Given the description of an element on the screen output the (x, y) to click on. 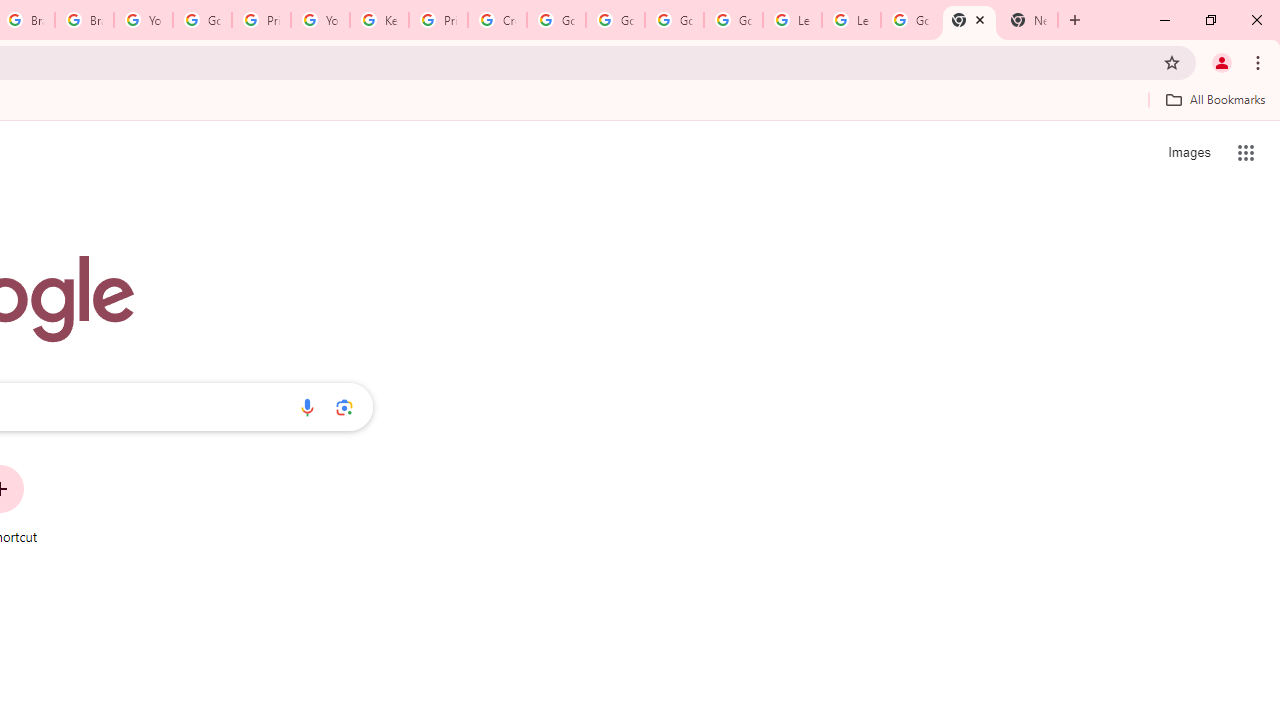
Create your Google Account (497, 20)
Google Account (909, 20)
Google Account Help (733, 20)
New Tab (969, 20)
